Given the description of an element on the screen output the (x, y) to click on. 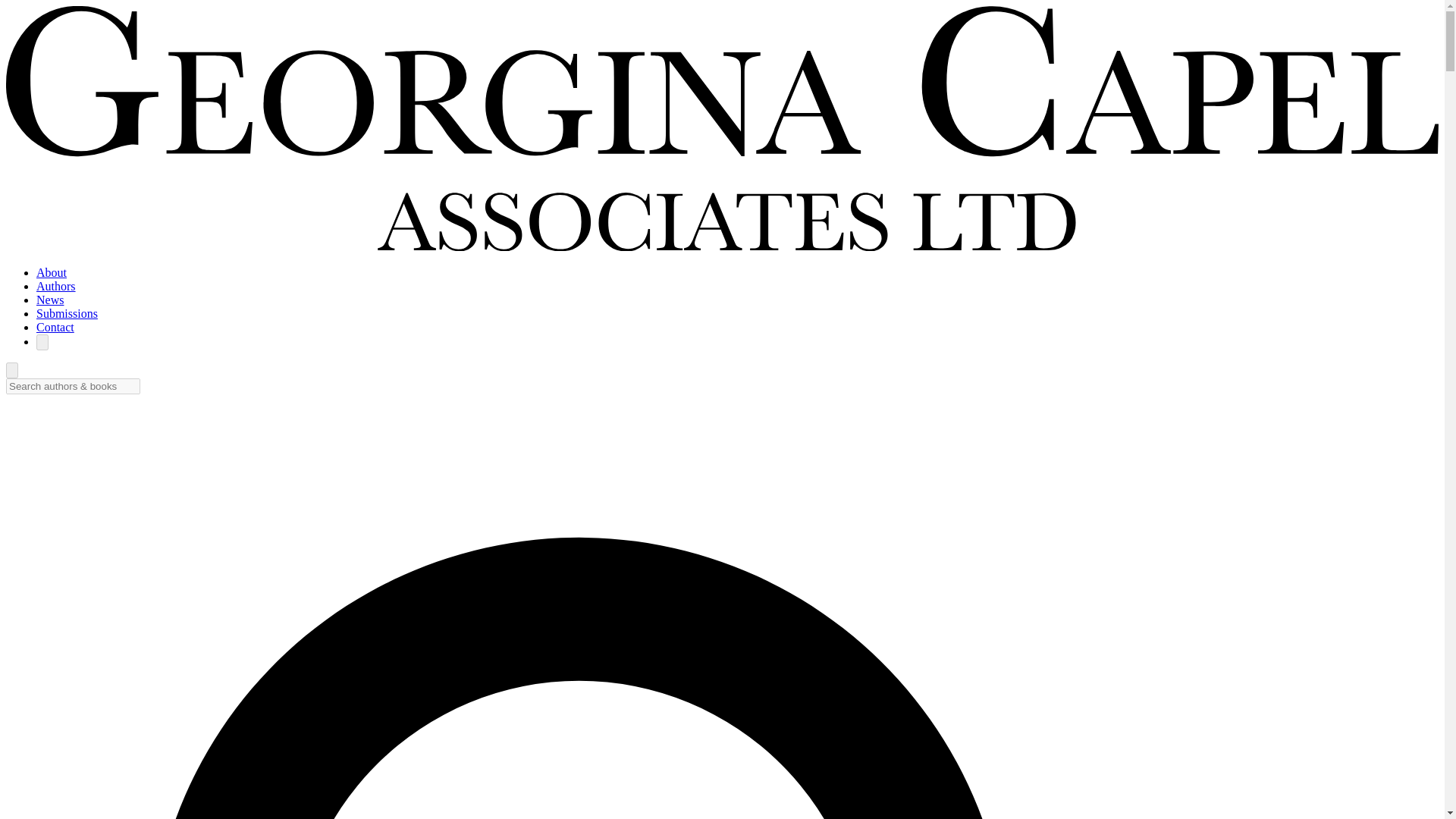
Submissions (66, 313)
News (50, 299)
Authors (55, 286)
Contact (55, 327)
About (51, 272)
